Given the description of an element on the screen output the (x, y) to click on. 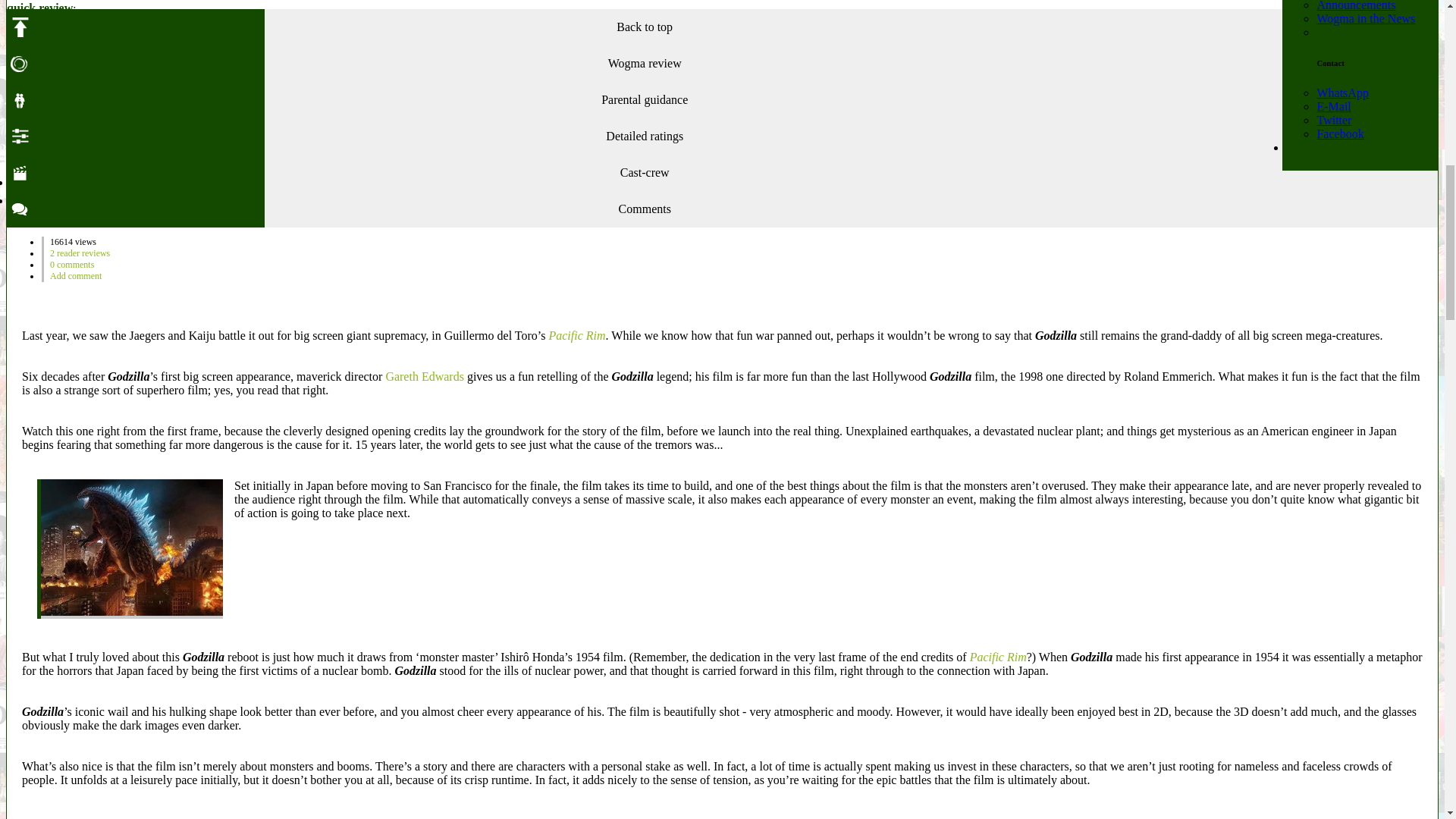
Bryan Cranston (73, 84)
Gareth Edwards (94, 70)
Gareth Edwards page on wogma (223, 33)
Listing for Fantasy (102, 111)
Elizabeth Olsen (257, 84)
Aaron Taylor-Johnson (164, 84)
Listing for Action (65, 111)
wogma in media (1365, 18)
Advertisement (644, 145)
Pacific Rim Review (576, 335)
Advertisement (721, 300)
Listing for Thriller (143, 111)
